Given the description of an element on the screen output the (x, y) to click on. 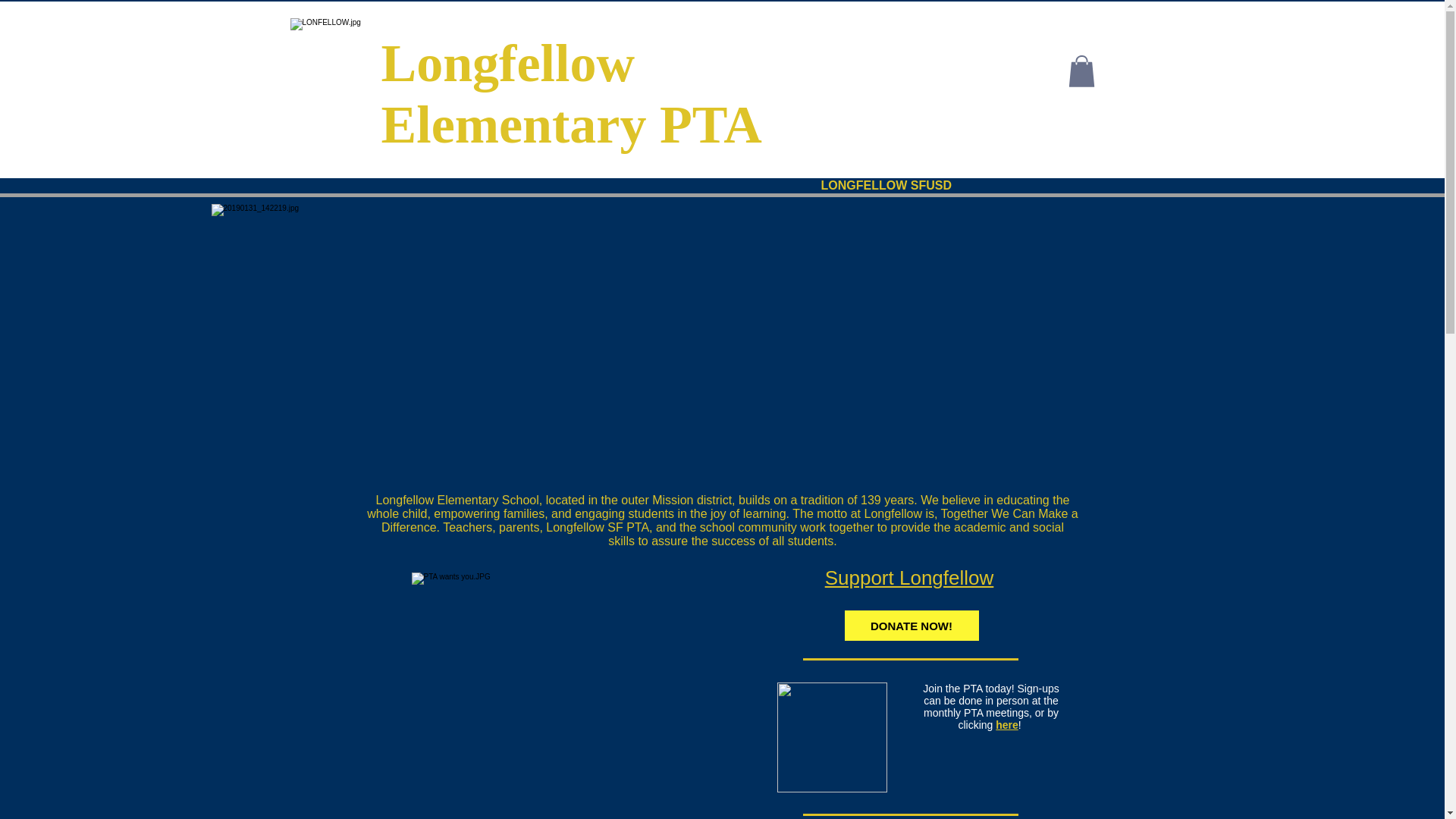
LONGFELLOW SFUSD (885, 185)
Support Longfellow (909, 577)
here (1006, 725)
DONATE NOW! (911, 625)
PTA Membership drive.jpg (831, 737)
